Given the description of an element on the screen output the (x, y) to click on. 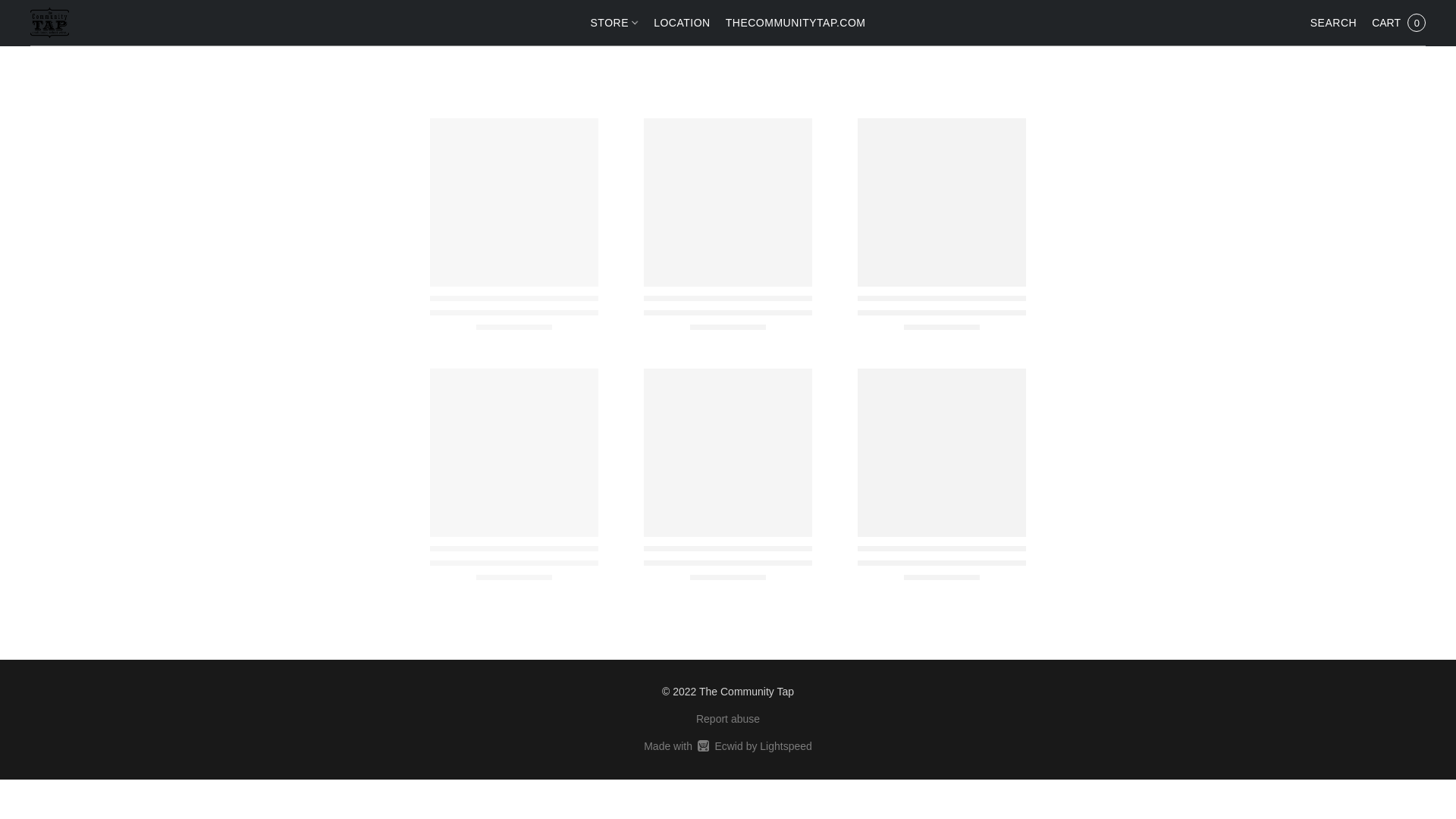
SEARCH (1333, 22)
Search the website (1333, 22)
Go to your shopping cart (1398, 22)
Report abuse (727, 719)
CART (1398, 22)
STORE (727, 746)
LOCATION (617, 22)
THECOMMUNITYTAP.COM (681, 22)
